Given the description of an element on the screen output the (x, y) to click on. 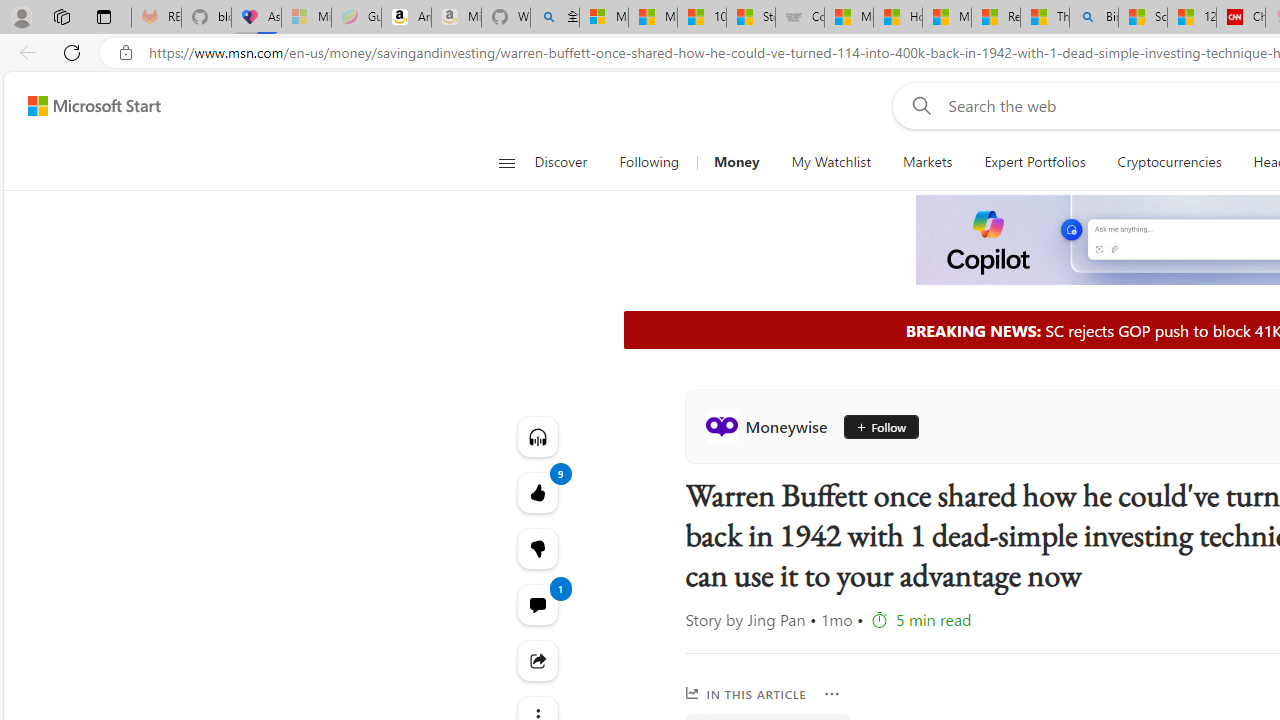
9 Like (537, 492)
9 (537, 548)
Science - MSN (1142, 17)
Share this story (537, 660)
Asthma Inhalers: Names and Types (256, 17)
Cryptocurrencies (1169, 162)
